Given the description of an element on the screen output the (x, y) to click on. 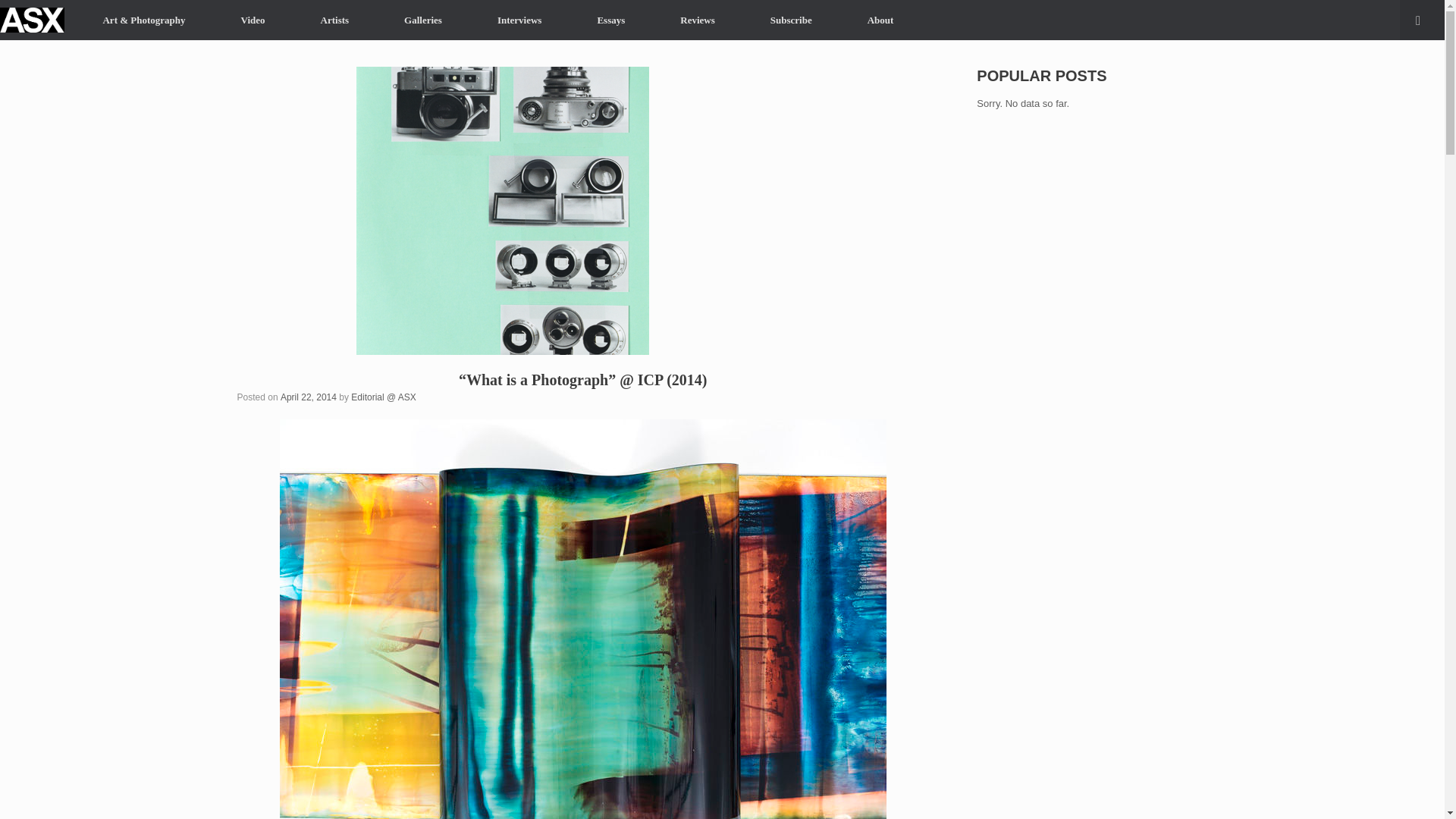
About (880, 20)
Reviews (697, 20)
Interviews (519, 20)
Subscribe (791, 20)
AMERICAN SUBURB X (32, 20)
Artists (334, 20)
Galleries (422, 20)
Video (253, 20)
1:42 pm (308, 397)
Essays (610, 20)
